Given the description of an element on the screen output the (x, y) to click on. 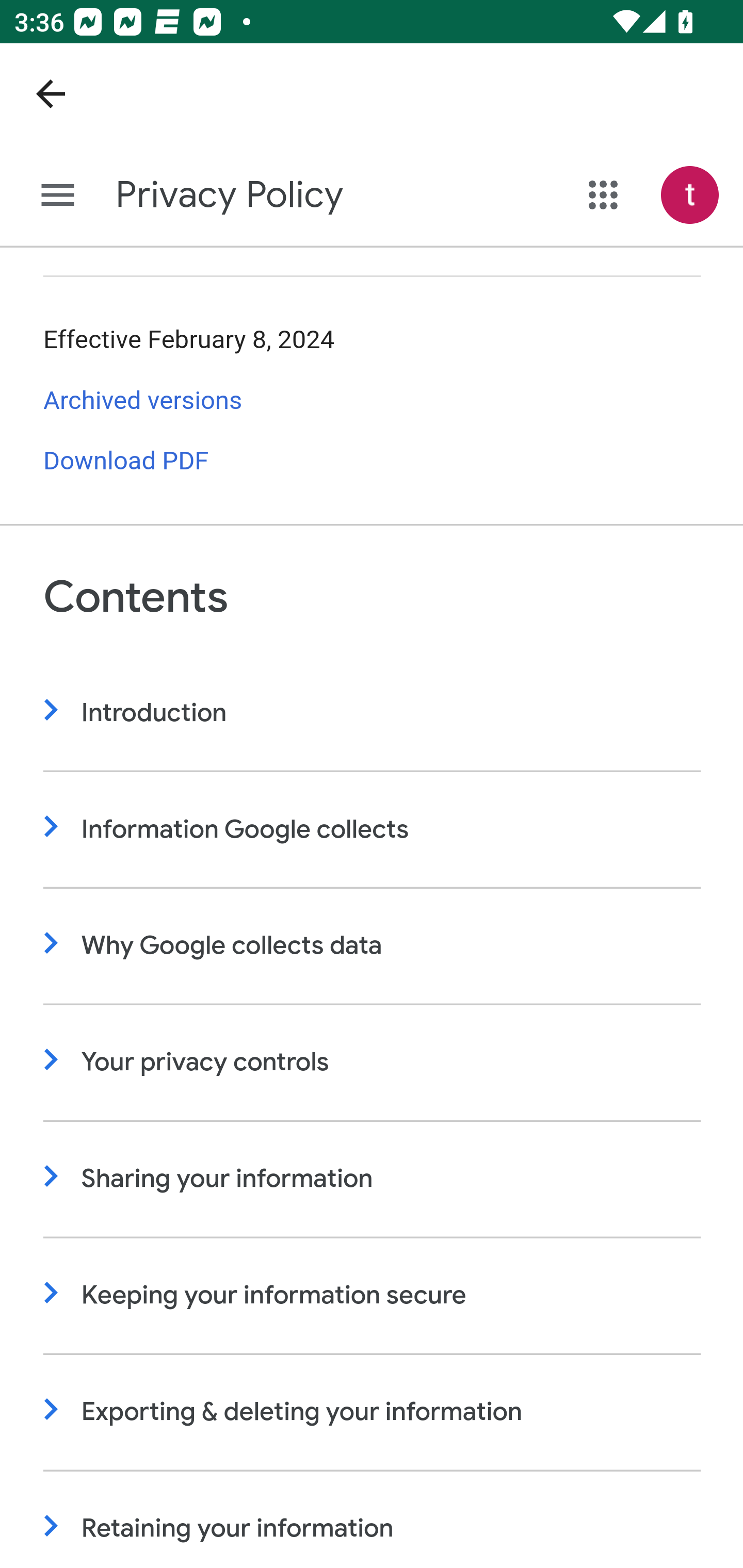
Navigate up (50, 93)
Main menu (58, 195)
Google apps (603, 195)
Archived versions (143, 400)
Download PDF (126, 461)
Introduction (372, 714)
Information Google collects (372, 830)
Why Google collects data (372, 946)
Your privacy controls (372, 1063)
Sharing your information (372, 1179)
Keeping your information secure (372, 1296)
Exporting & deleting your information (372, 1411)
Retaining your information (372, 1519)
